Given the description of an element on the screen output the (x, y) to click on. 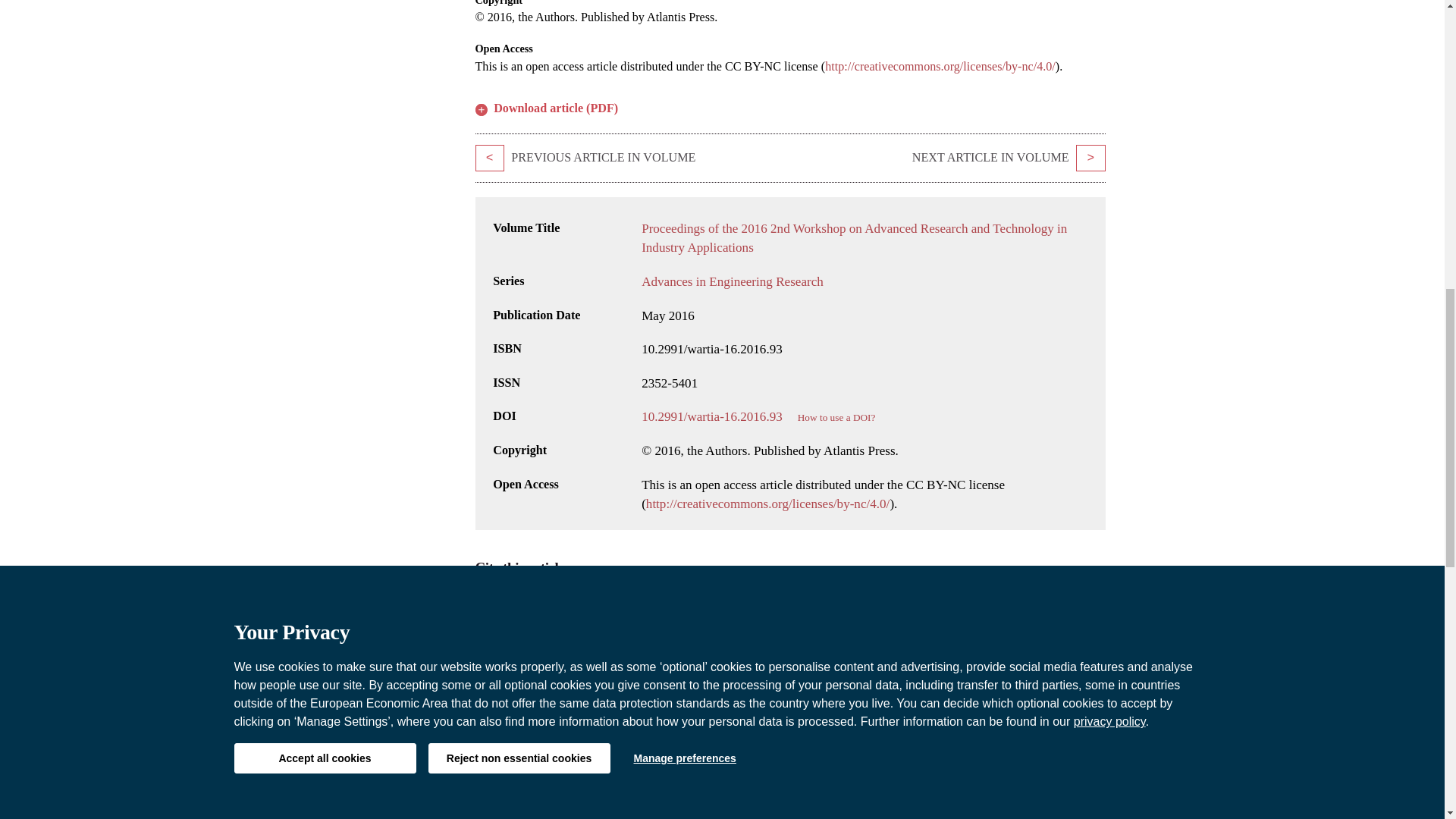
The Adaptive Load Balancing Algorithm in Cloud Computing (1090, 157)
Research on improved algorithm of Hoff circle detection (488, 157)
